Given the description of an element on the screen output the (x, y) to click on. 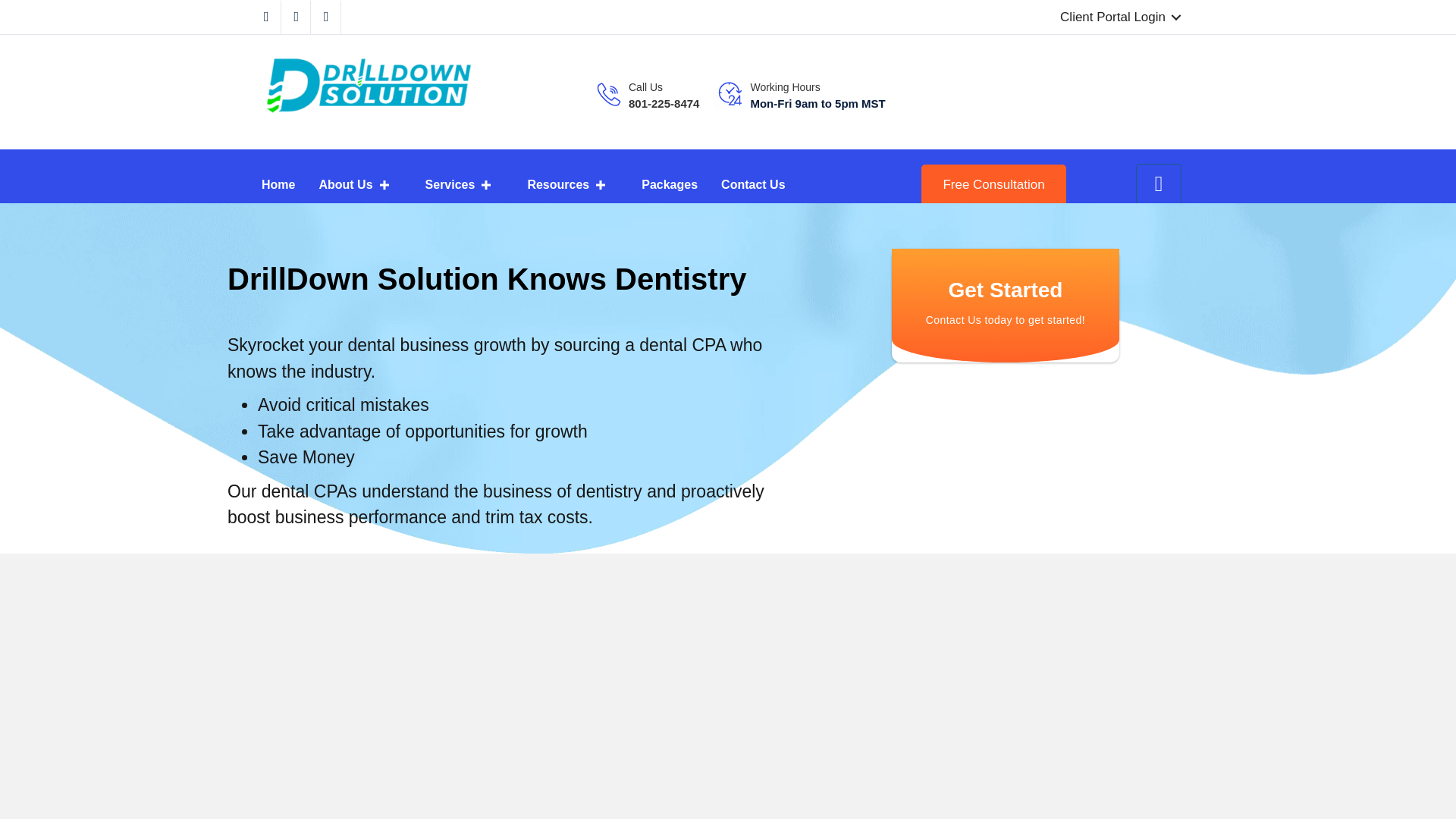
Contact Us (752, 184)
801-225-8474 (663, 103)
Client Portal Login (1117, 17)
Resources (572, 184)
Home (277, 184)
logo (367, 83)
Packages (668, 184)
Services (464, 184)
About Us (360, 184)
